Given the description of an element on the screen output the (x, y) to click on. 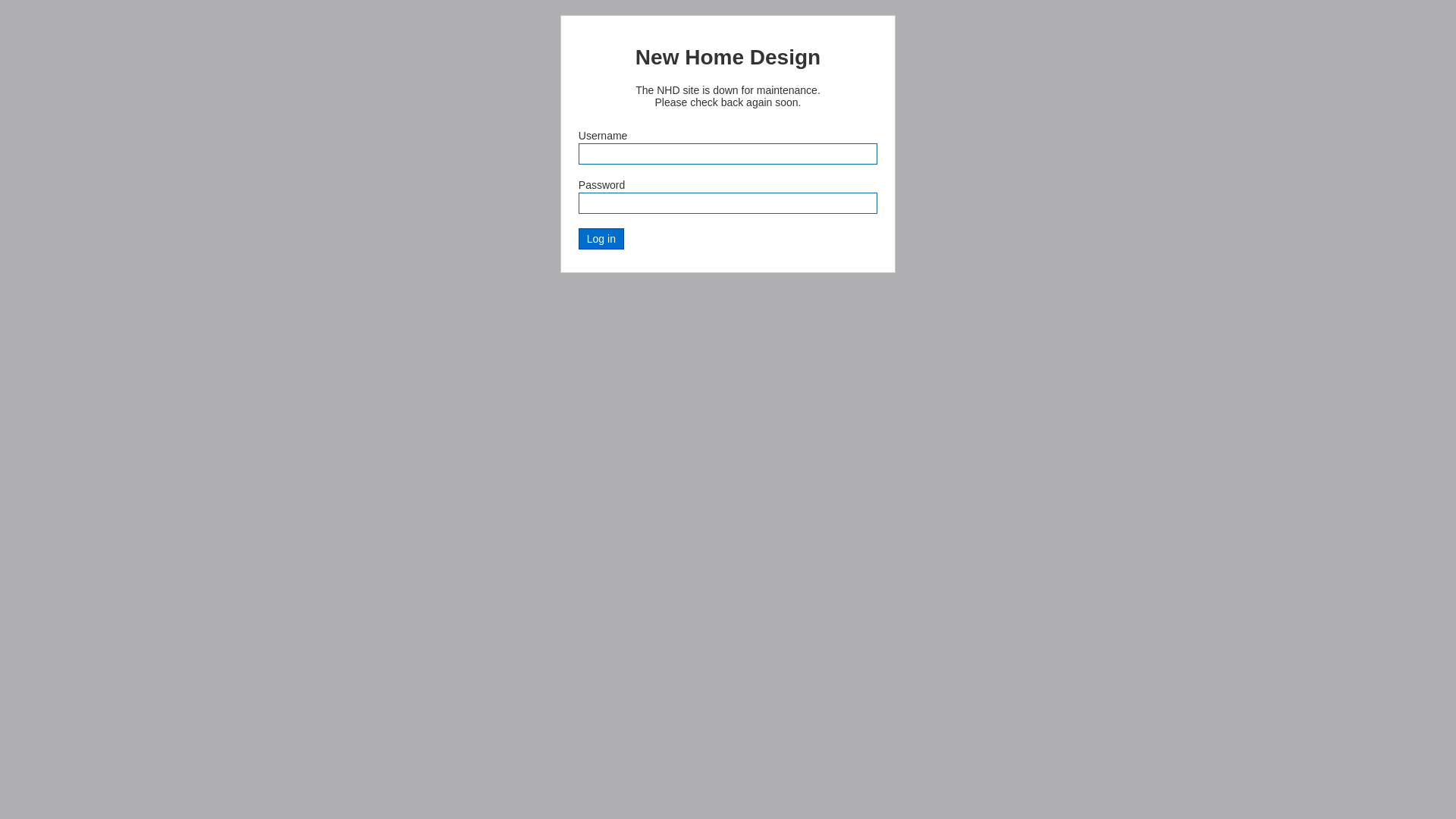
Log in Element type: text (601, 238)
